Given the description of an element on the screen output the (x, y) to click on. 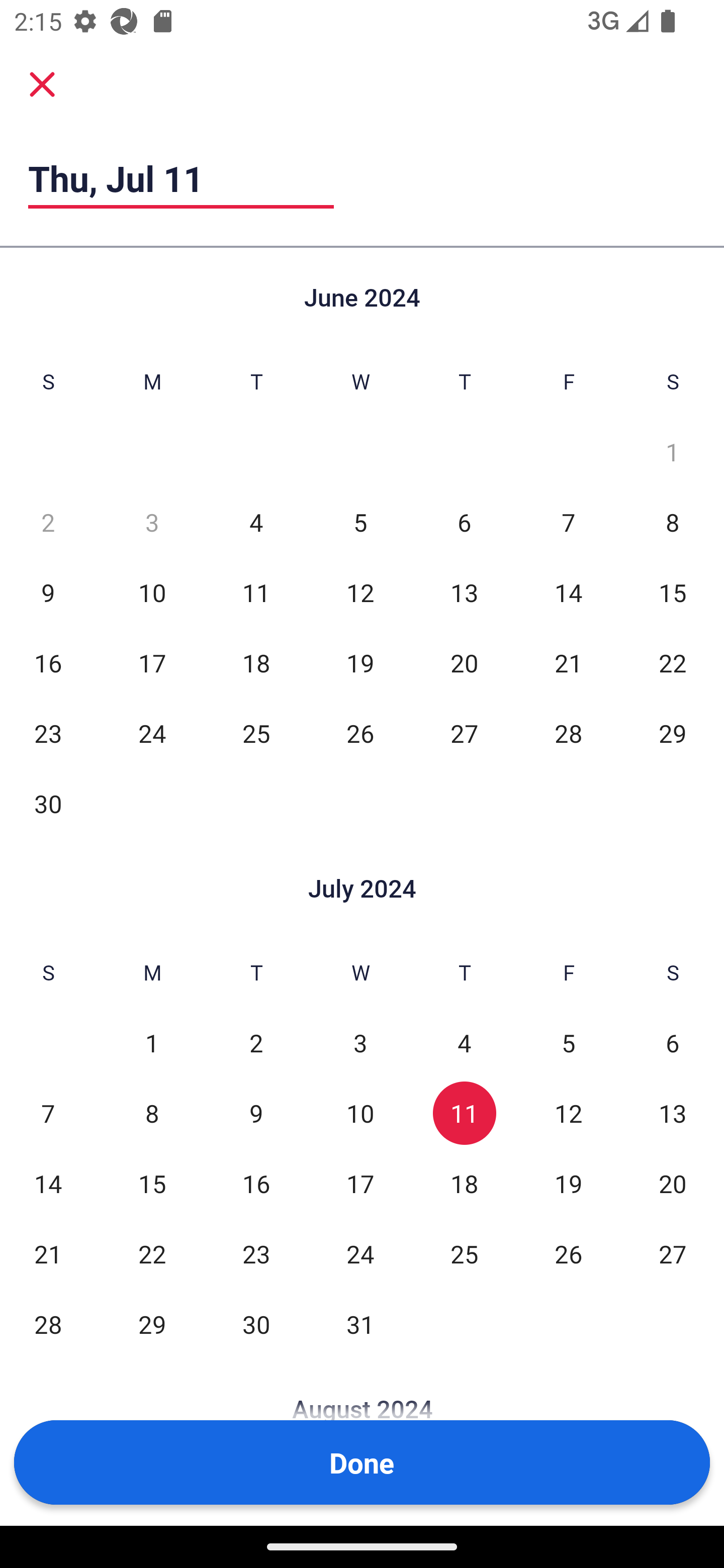
Cancel (41, 83)
Thu, Jul 11 (180, 178)
1 Sat, Jun 1, Not Selected (672, 452)
2 Sun, Jun 2, Not Selected (48, 521)
3 Mon, Jun 3, Not Selected (152, 521)
4 Tue, Jun 4, Not Selected (256, 521)
5 Wed, Jun 5, Not Selected (360, 521)
6 Thu, Jun 6, Not Selected (464, 521)
7 Fri, Jun 7, Not Selected (568, 521)
8 Sat, Jun 8, Not Selected (672, 521)
9 Sun, Jun 9, Not Selected (48, 591)
10 Mon, Jun 10, Not Selected (152, 591)
11 Tue, Jun 11, Not Selected (256, 591)
12 Wed, Jun 12, Not Selected (360, 591)
13 Thu, Jun 13, Not Selected (464, 591)
14 Fri, Jun 14, Not Selected (568, 591)
15 Sat, Jun 15, Not Selected (672, 591)
16 Sun, Jun 16, Not Selected (48, 662)
17 Mon, Jun 17, Not Selected (152, 662)
18 Tue, Jun 18, Not Selected (256, 662)
19 Wed, Jun 19, Not Selected (360, 662)
20 Thu, Jun 20, Not Selected (464, 662)
21 Fri, Jun 21, Not Selected (568, 662)
22 Sat, Jun 22, Not Selected (672, 662)
23 Sun, Jun 23, Not Selected (48, 732)
24 Mon, Jun 24, Not Selected (152, 732)
25 Tue, Jun 25, Not Selected (256, 732)
26 Wed, Jun 26, Not Selected (360, 732)
27 Thu, Jun 27, Not Selected (464, 732)
28 Fri, Jun 28, Not Selected (568, 732)
29 Sat, Jun 29, Not Selected (672, 732)
30 Sun, Jun 30, Not Selected (48, 803)
1 Mon, Jul 1, Not Selected (152, 1043)
2 Tue, Jul 2, Not Selected (256, 1043)
3 Wed, Jul 3, Not Selected (360, 1043)
4 Thu, Jul 4, Not Selected (464, 1043)
5 Fri, Jul 5, Not Selected (568, 1043)
6 Sat, Jul 6, Not Selected (672, 1043)
7 Sun, Jul 7, Not Selected (48, 1112)
8 Mon, Jul 8, Not Selected (152, 1112)
9 Tue, Jul 9, Not Selected (256, 1112)
10 Wed, Jul 10, Not Selected (360, 1112)
11 Thu, Jul 11, Selected (464, 1112)
12 Fri, Jul 12, Not Selected (568, 1112)
13 Sat, Jul 13, Not Selected (672, 1112)
14 Sun, Jul 14, Not Selected (48, 1182)
15 Mon, Jul 15, Not Selected (152, 1182)
16 Tue, Jul 16, Not Selected (256, 1182)
17 Wed, Jul 17, Not Selected (360, 1182)
18 Thu, Jul 18, Not Selected (464, 1182)
19 Fri, Jul 19, Not Selected (568, 1182)
20 Sat, Jul 20, Not Selected (672, 1182)
21 Sun, Jul 21, Not Selected (48, 1253)
22 Mon, Jul 22, Not Selected (152, 1253)
23 Tue, Jul 23, Not Selected (256, 1253)
24 Wed, Jul 24, Not Selected (360, 1253)
25 Thu, Jul 25, Not Selected (464, 1253)
26 Fri, Jul 26, Not Selected (568, 1253)
27 Sat, Jul 27, Not Selected (672, 1253)
28 Sun, Jul 28, Not Selected (48, 1323)
29 Mon, Jul 29, Not Selected (152, 1323)
30 Tue, Jul 30, Not Selected (256, 1323)
31 Wed, Jul 31, Not Selected (360, 1323)
Done Button Done (361, 1462)
